Given the description of an element on the screen output the (x, y) to click on. 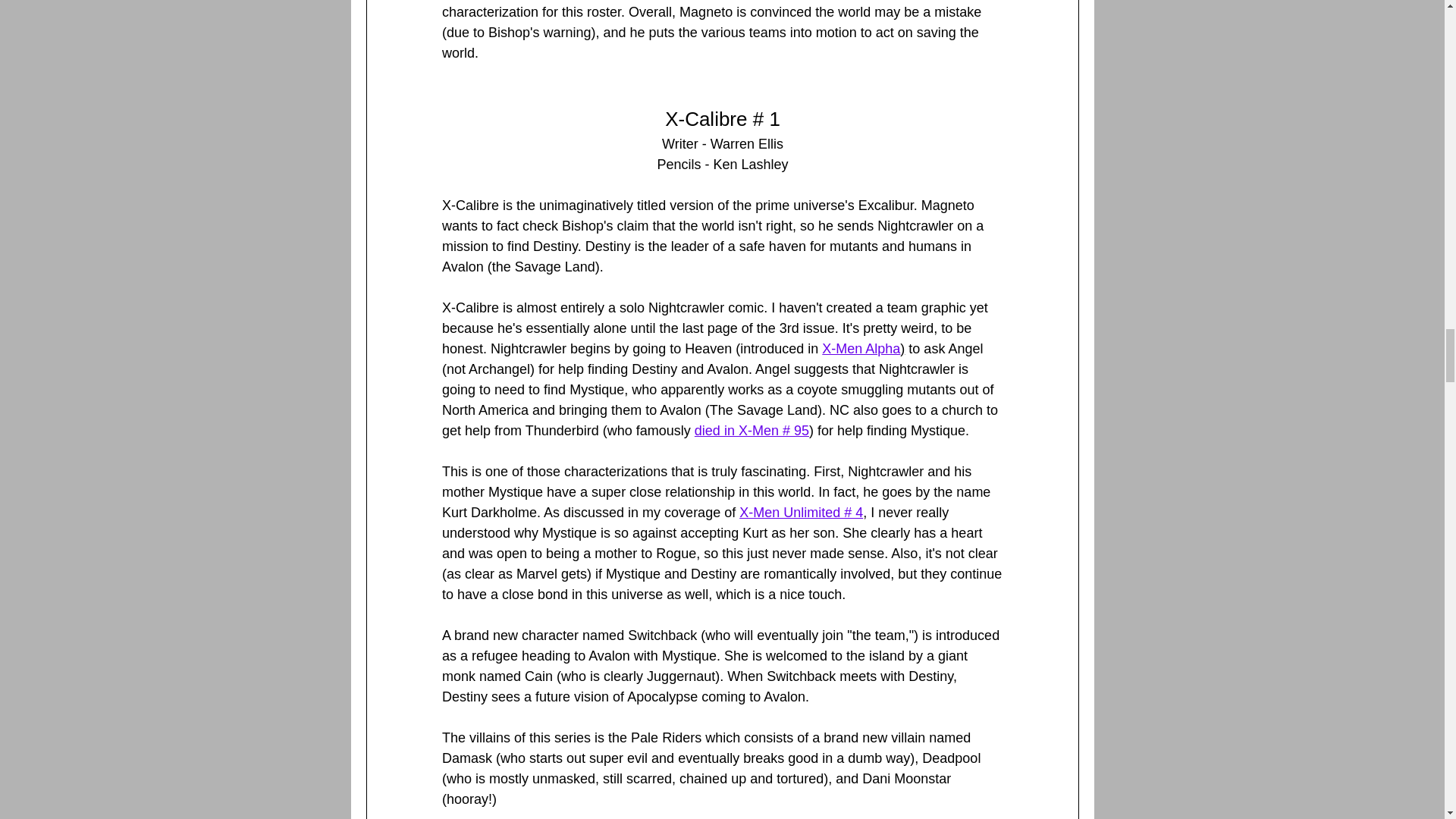
X-Men Alpha (860, 348)
